Given the description of an element on the screen output the (x, y) to click on. 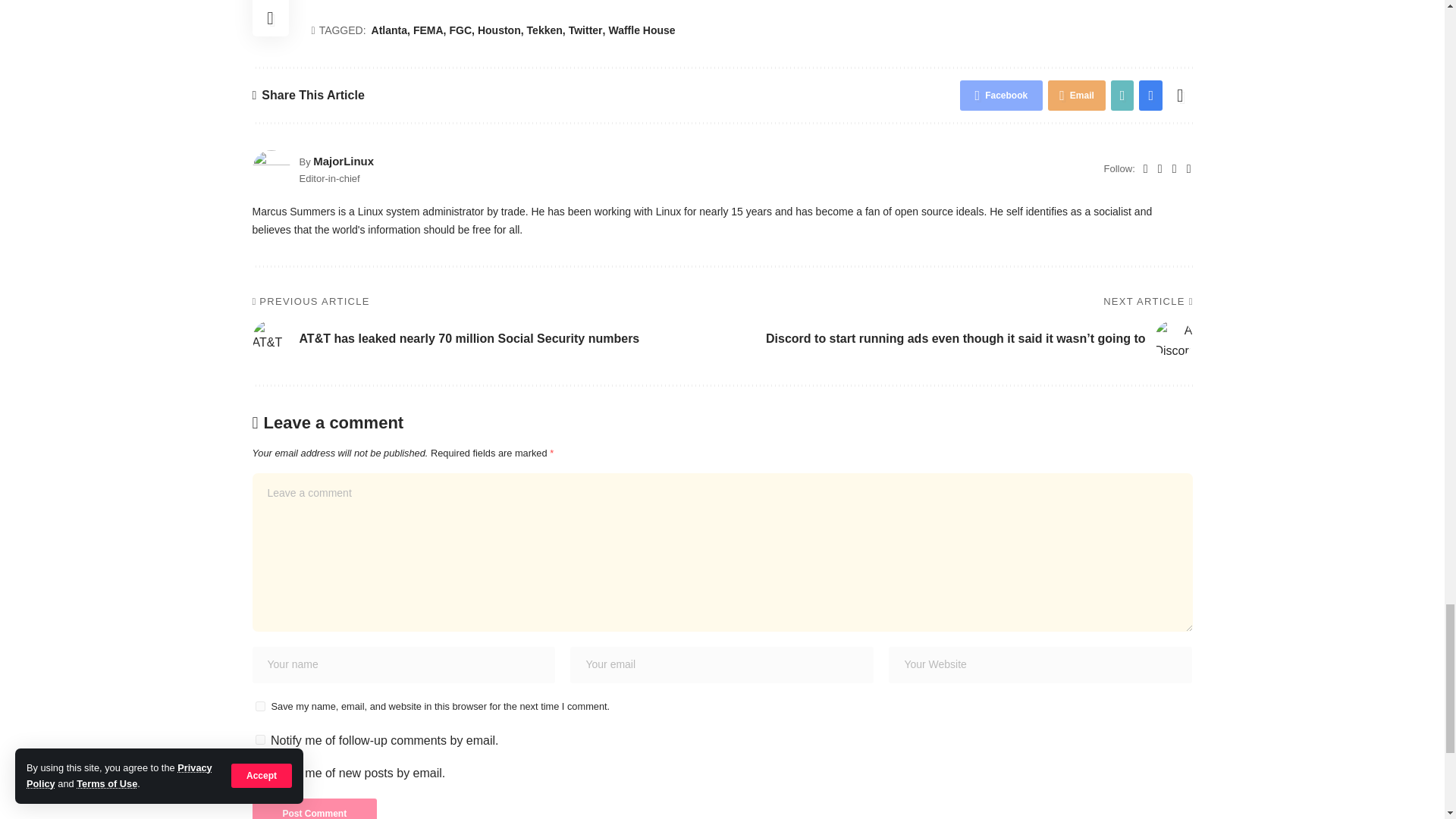
Post Comment (314, 808)
subscribe (259, 739)
yes (259, 706)
subscribe (259, 772)
